Given the description of an element on the screen output the (x, y) to click on. 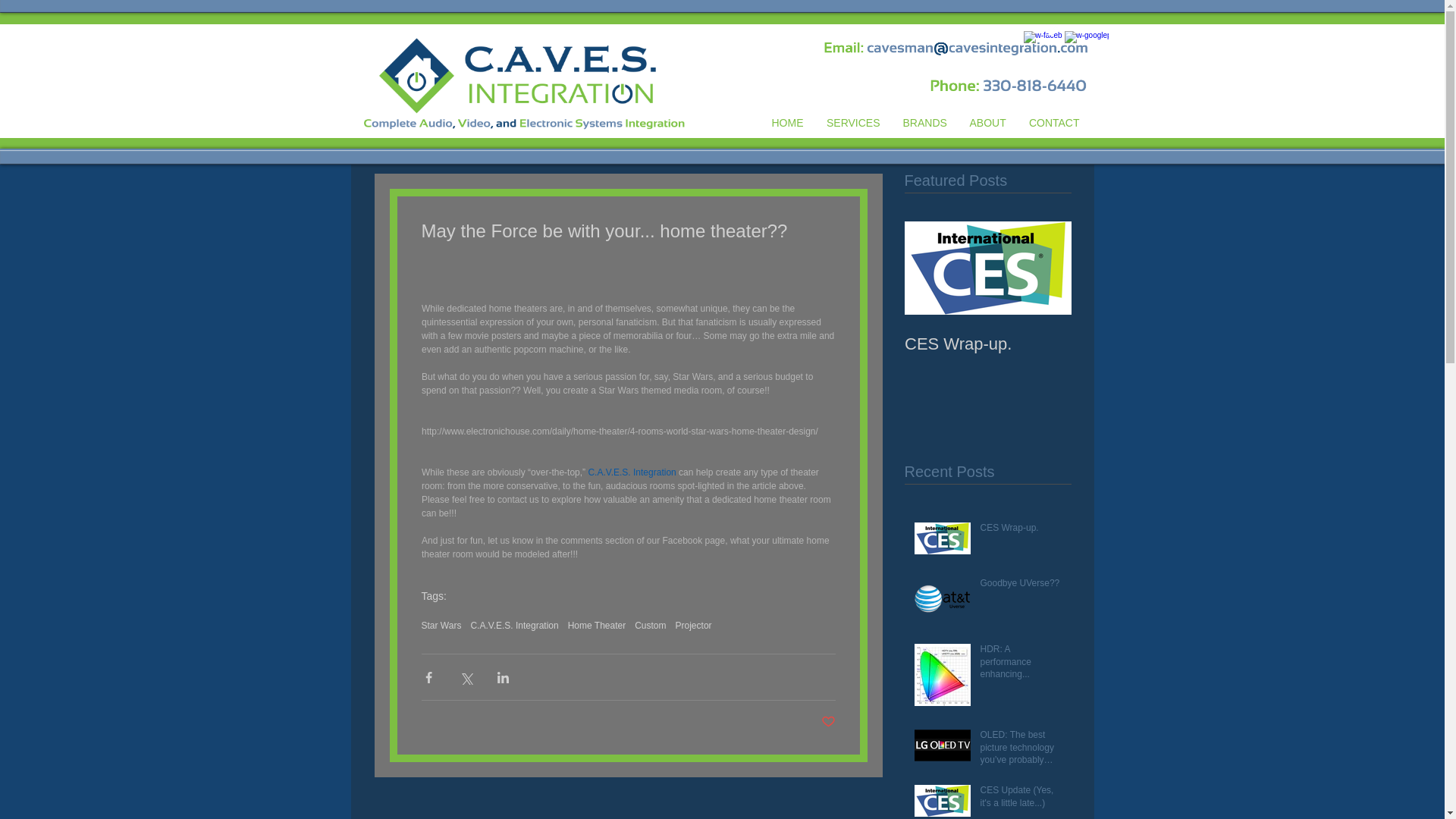
SERVICES (852, 122)
Home Theater (596, 624)
BRANDS (924, 122)
HDR: A performance enhancing... (1020, 664)
CONTACT (1053, 122)
Untitled-1.gif (507, 82)
CES Wrap-up. (987, 343)
contact.gif (950, 45)
Post not marked as liked (827, 722)
Custom (649, 624)
